Given the description of an element on the screen output the (x, y) to click on. 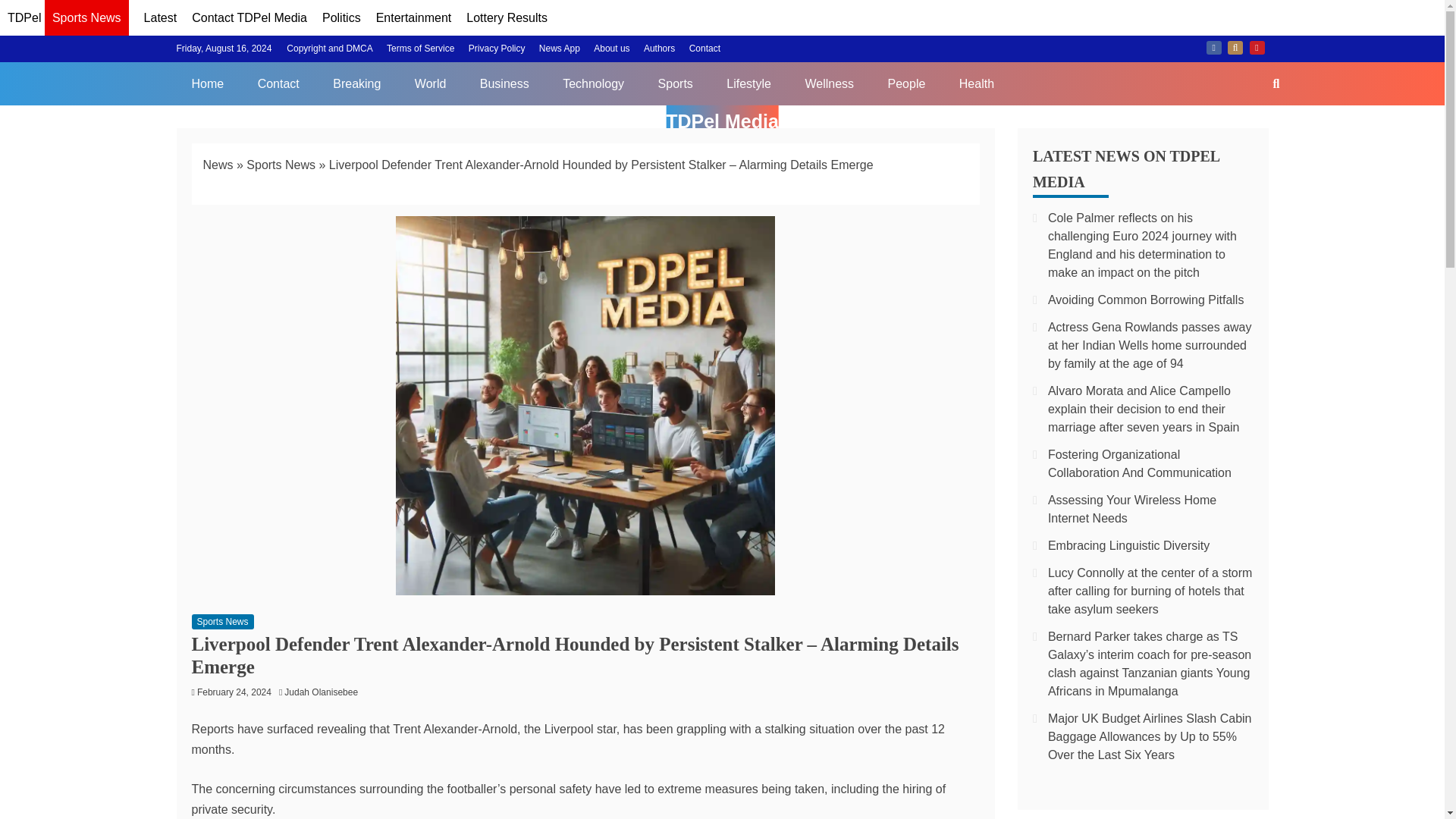
Health (976, 83)
Latest (160, 17)
Lottery Results (506, 17)
Home (207, 83)
Technology (593, 83)
Sports (675, 83)
News (217, 164)
Wellness (829, 83)
World (429, 83)
Breaking (356, 83)
